Given the description of an element on the screen output the (x, y) to click on. 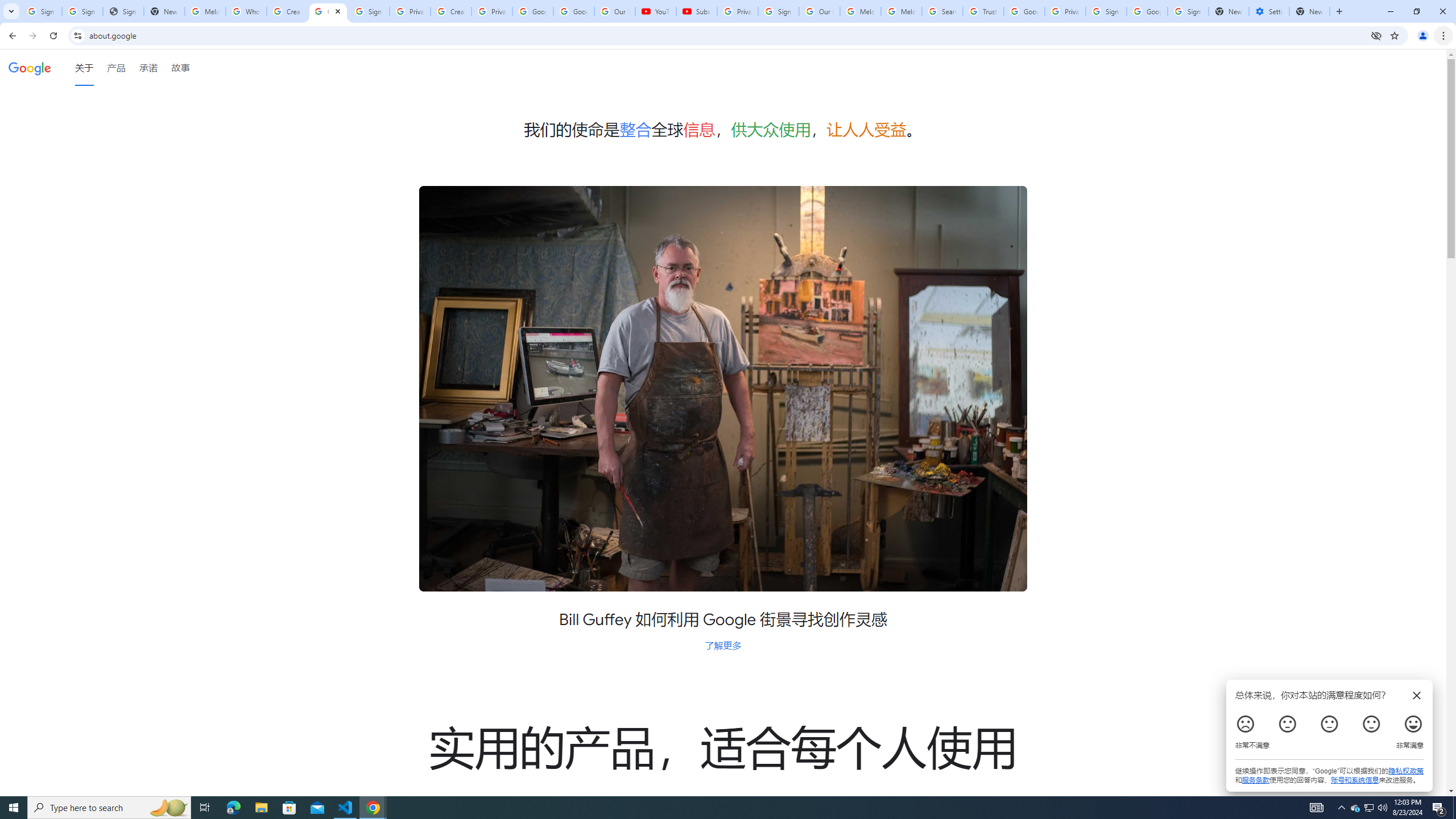
Create your Google Account (287, 11)
Sign in - Google Accounts (81, 11)
Sign in - Google Accounts (1187, 11)
YouTube (655, 11)
